Given the description of an element on the screen output the (x, y) to click on. 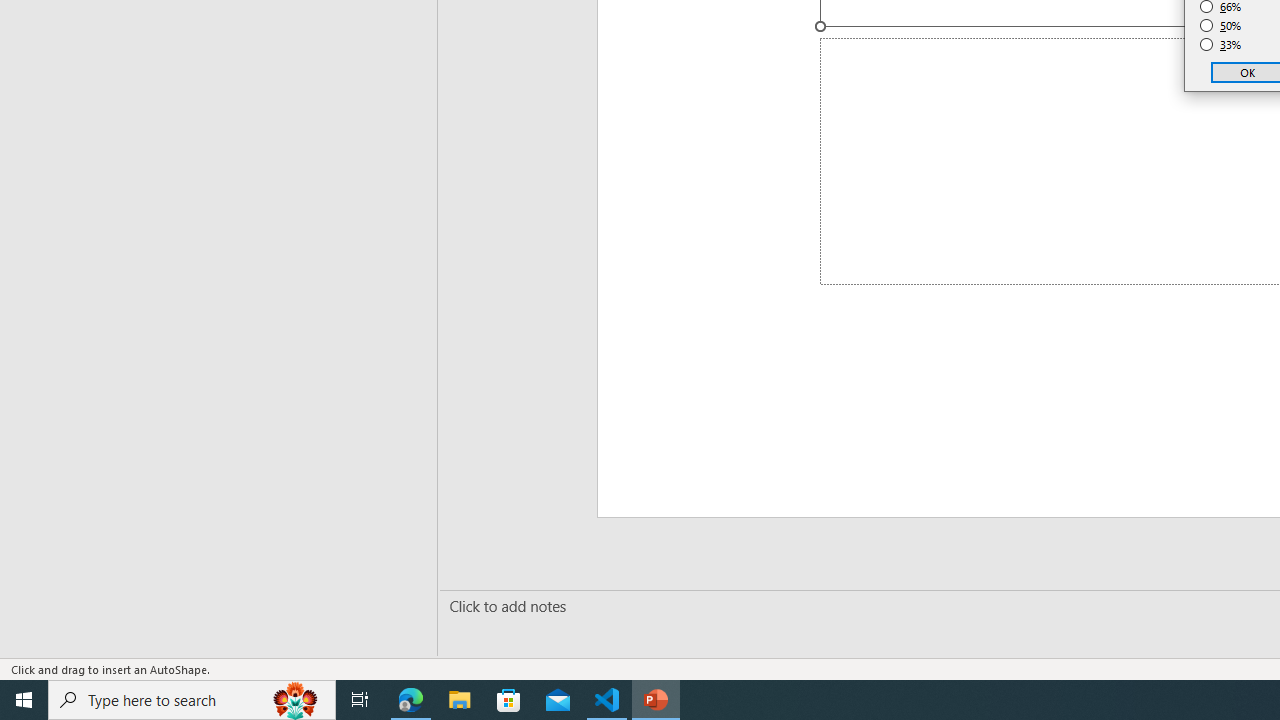
50% (1221, 25)
33% (1221, 44)
Microsoft Edge - 1 running window (411, 699)
